Given the description of an element on the screen output the (x, y) to click on. 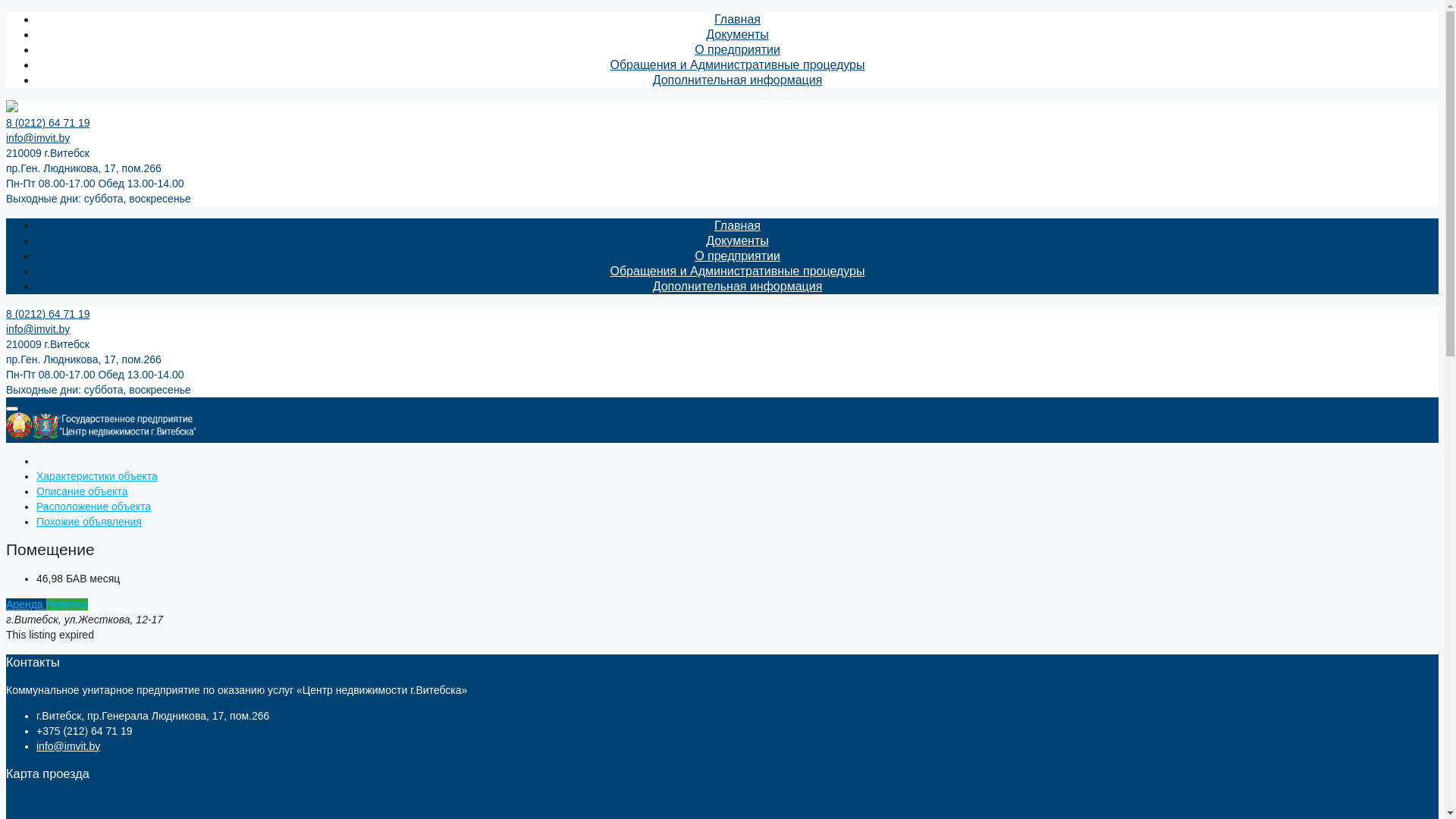
info@imvit.by Element type: text (68, 746)
info@imvit.by Element type: text (37, 329)
8 (0212) 64 71 19 Element type: text (48, 122)
info@imvit.by Element type: text (37, 137)
8 (0212) 64 71 19 Element type: text (48, 313)
